Given the description of an element on the screen output the (x, y) to click on. 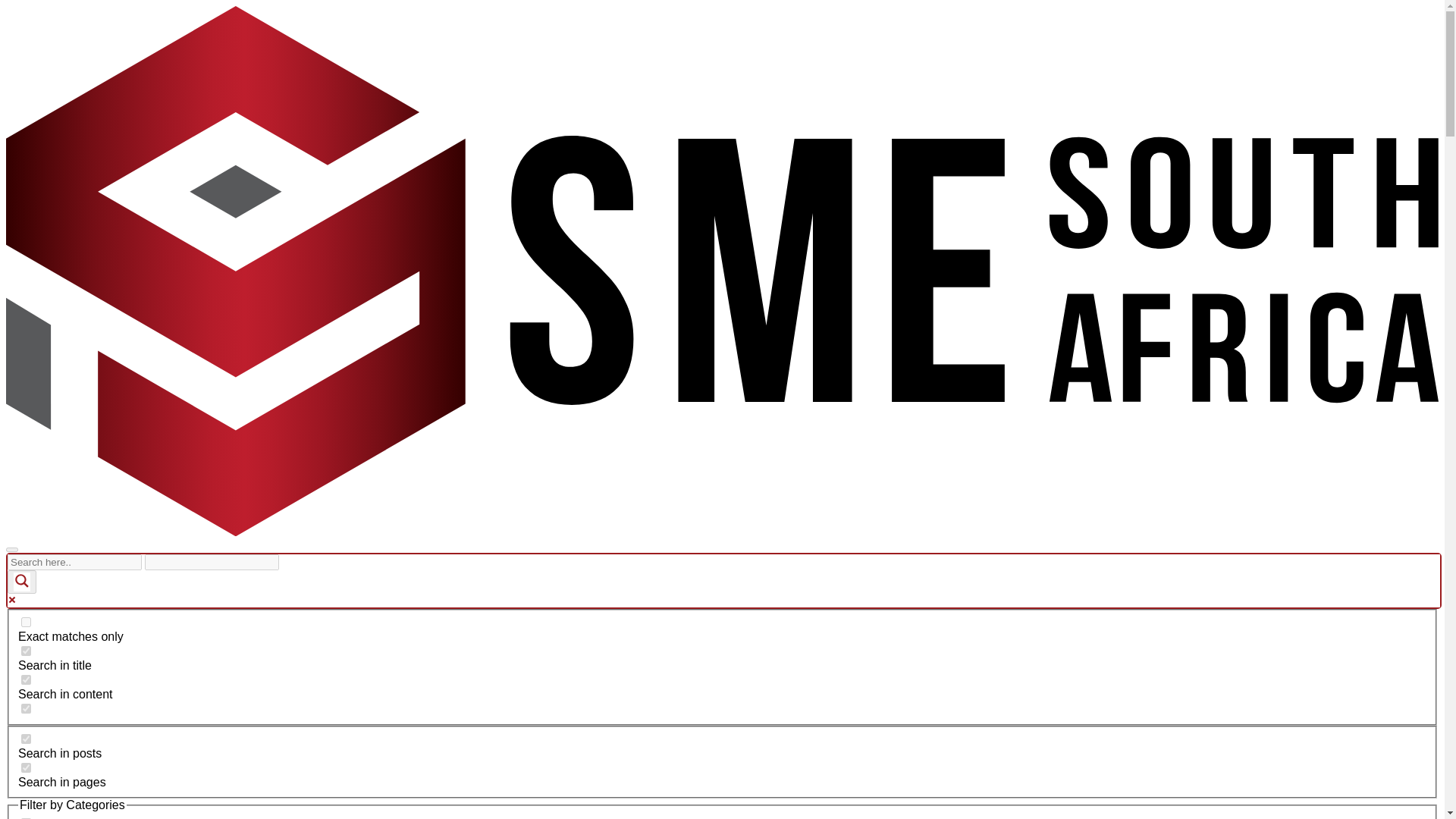
excerpt (25, 708)
title (25, 651)
content (25, 679)
page (25, 767)
post (25, 738)
Start search (288, 556)
exact (25, 622)
